Given the description of an element on the screen output the (x, y) to click on. 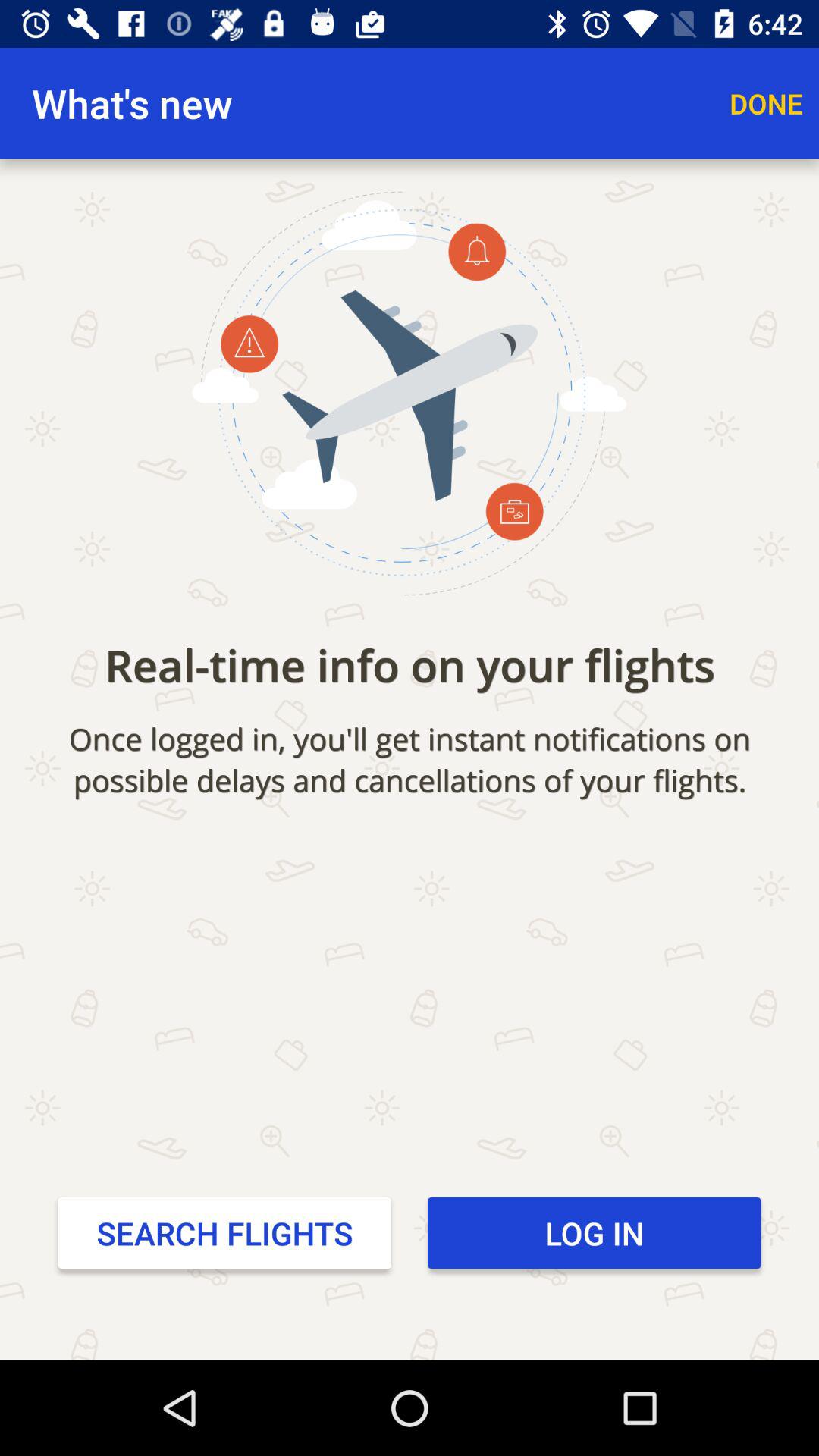
swipe to log in item (593, 1232)
